Given the description of an element on the screen output the (x, y) to click on. 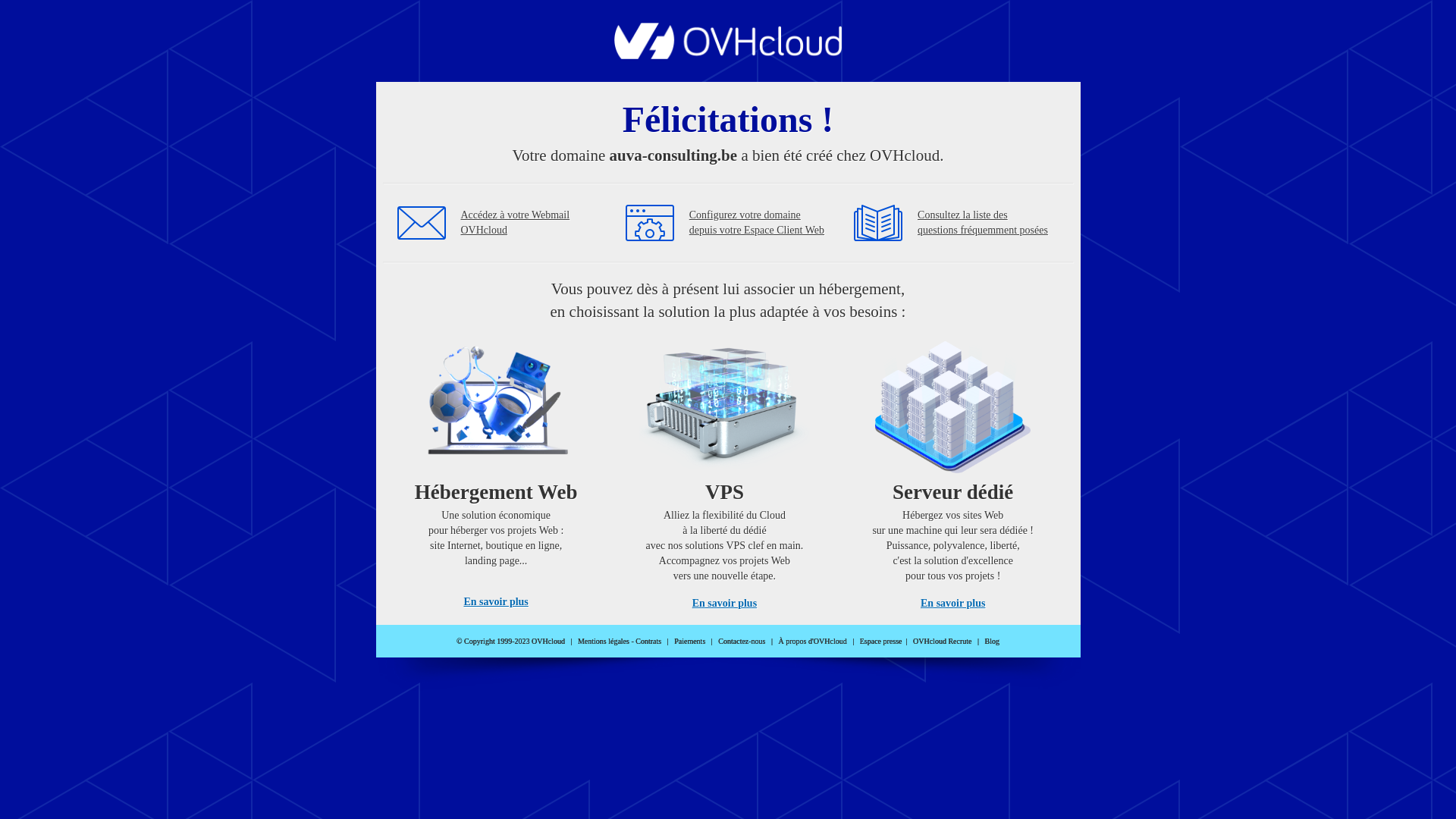
En savoir plus Element type: text (724, 602)
OVHcloud Recrute Element type: text (942, 641)
VPS Element type: hover (724, 469)
Blog Element type: text (992, 641)
En savoir plus Element type: text (952, 602)
OVHcloud Element type: hover (727, 54)
Configurez votre domaine
depuis votre Espace Client Web Element type: text (756, 222)
Paiements Element type: text (689, 641)
En savoir plus Element type: text (495, 601)
Contactez-nous Element type: text (741, 641)
Espace presse Element type: text (880, 641)
